Given the description of an element on the screen output the (x, y) to click on. 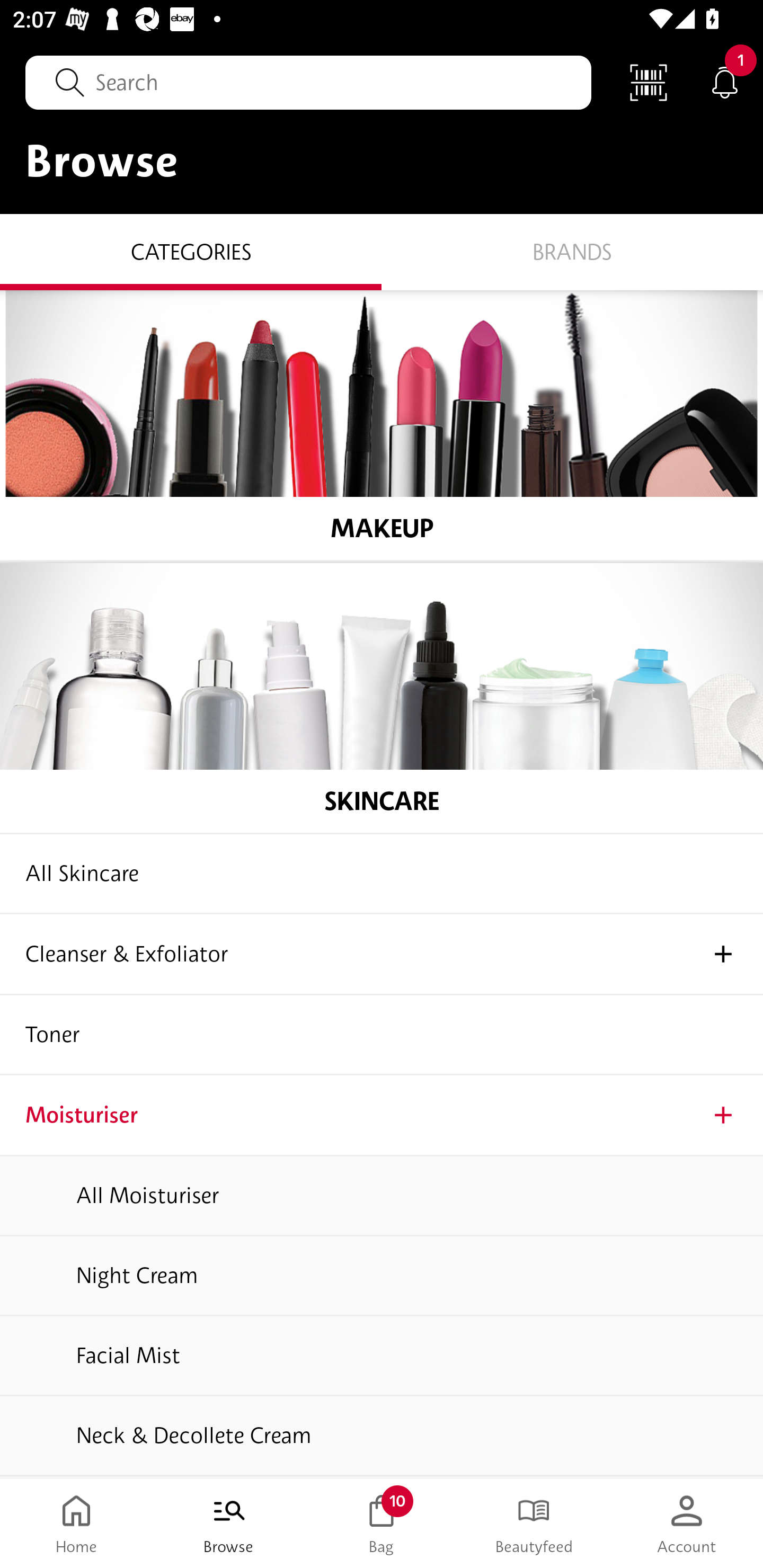
Scan Code (648, 81)
Notifications (724, 81)
Search (308, 81)
Brands BRANDS (572, 251)
MAKEUP (381, 425)
All Skincare (381, 874)
Cleanser & Exfoliator (381, 954)
Toner (381, 1035)
All Moisturiser (381, 1197)
Night Cream (381, 1277)
Facial Mist (381, 1357)
Neck & Decollete Cream (381, 1437)
Home (76, 1523)
Bag 10 Bag (381, 1523)
Beautyfeed (533, 1523)
Account (686, 1523)
